Given the description of an element on the screen output the (x, y) to click on. 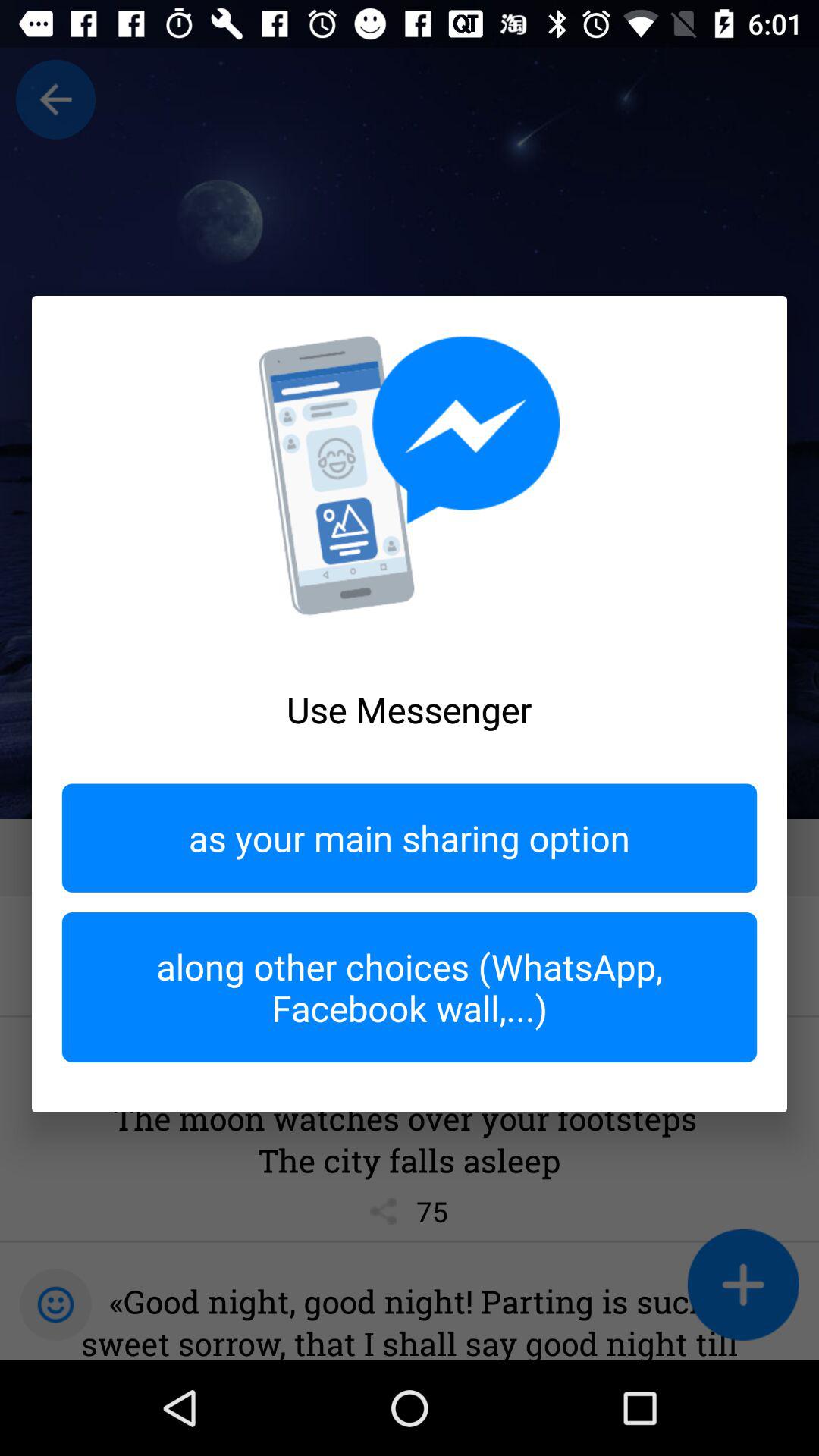
press the item below as your main icon (409, 987)
